Given the description of an element on the screen output the (x, y) to click on. 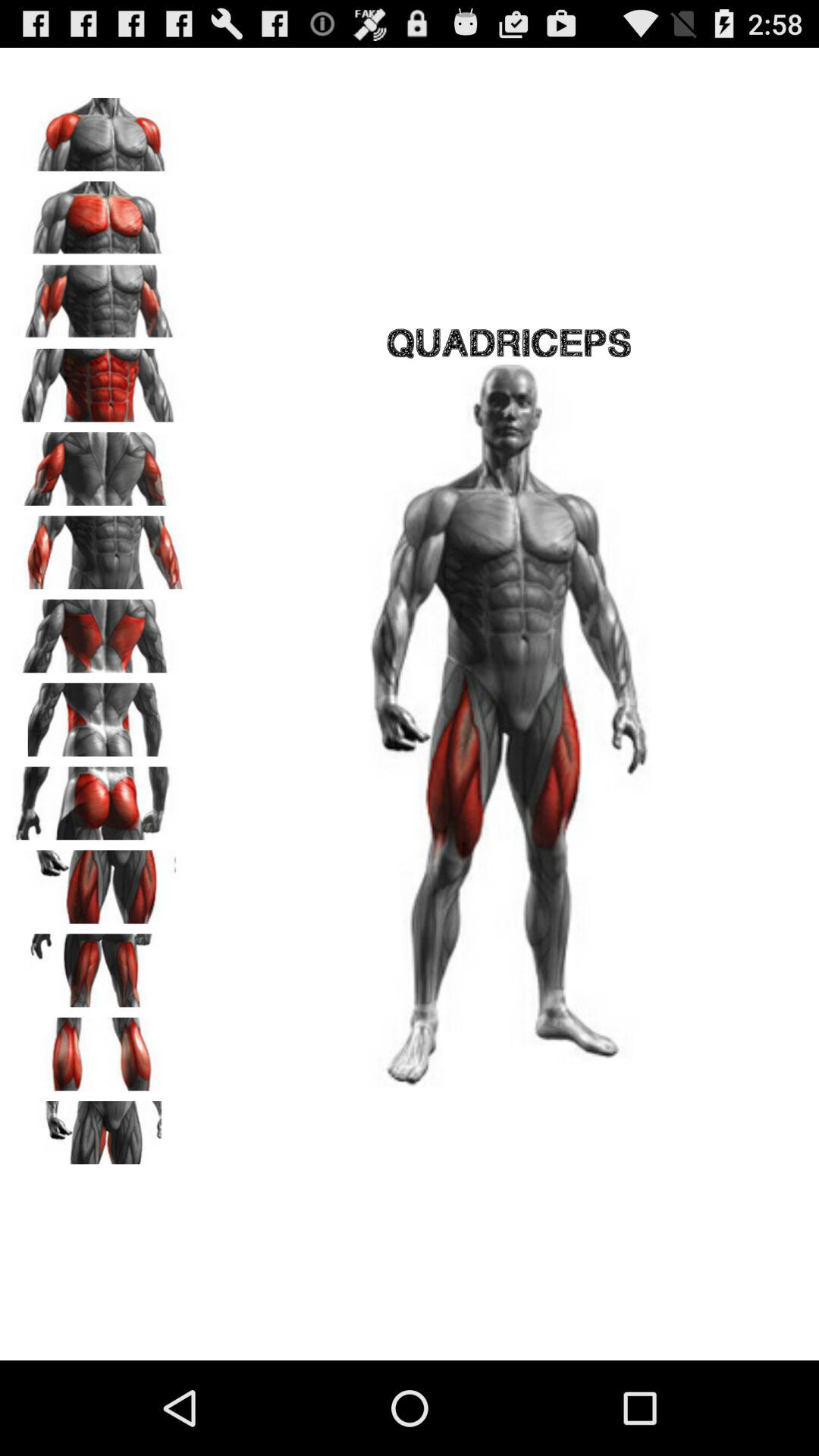
selecting arms (99, 547)
